Given the description of an element on the screen output the (x, y) to click on. 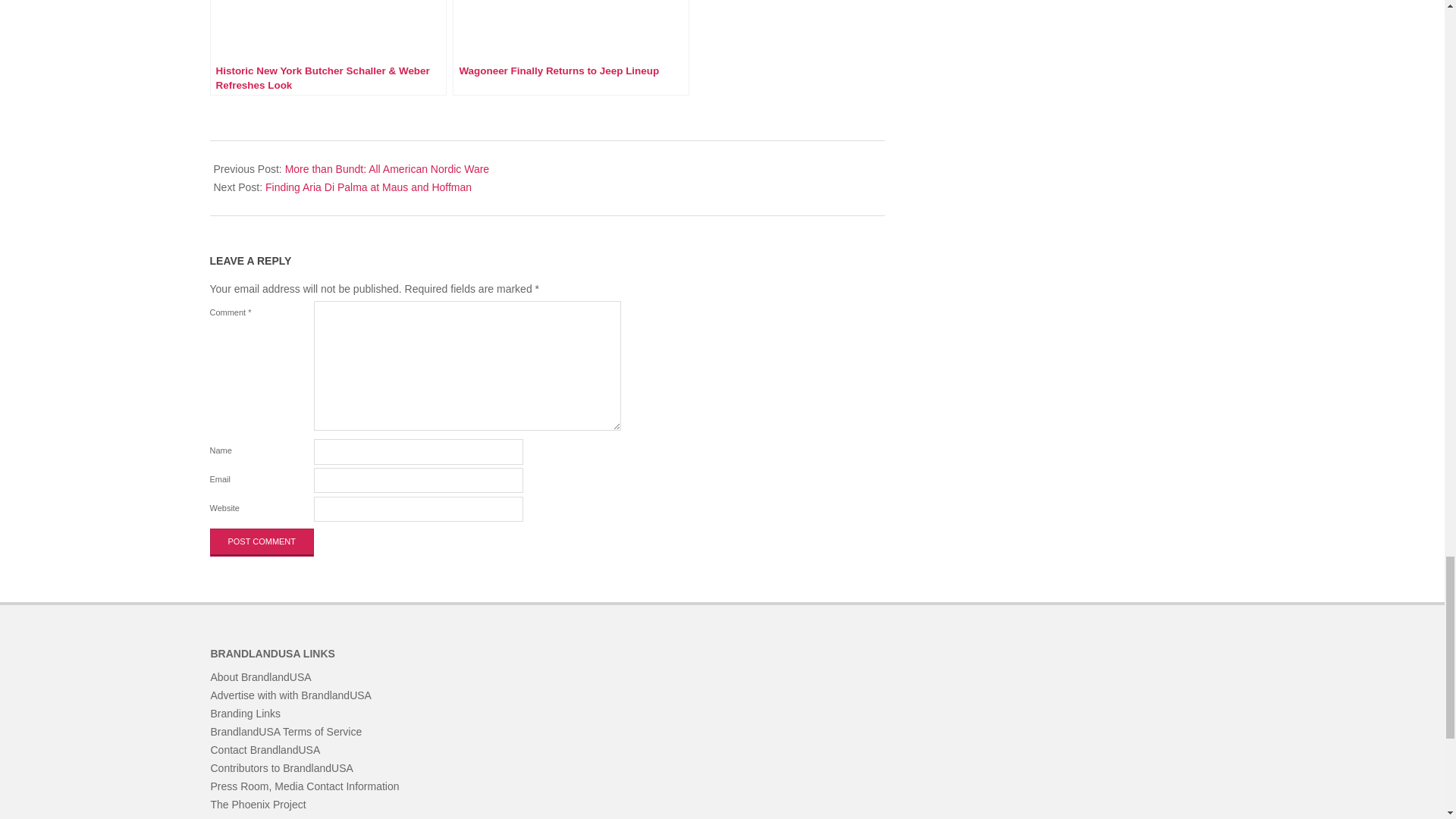
Wagoneer Finally Returns to Jeep Lineup (570, 47)
Wagoneer Finally Returns to Jeep Lineup (570, 47)
More than Bundt: All American Nordic Ware (387, 168)
Post Comment (261, 542)
Finding Aria Di Palma at Maus and Hoffman (367, 186)
Post Comment (261, 542)
